Given the description of an element on the screen output the (x, y) to click on. 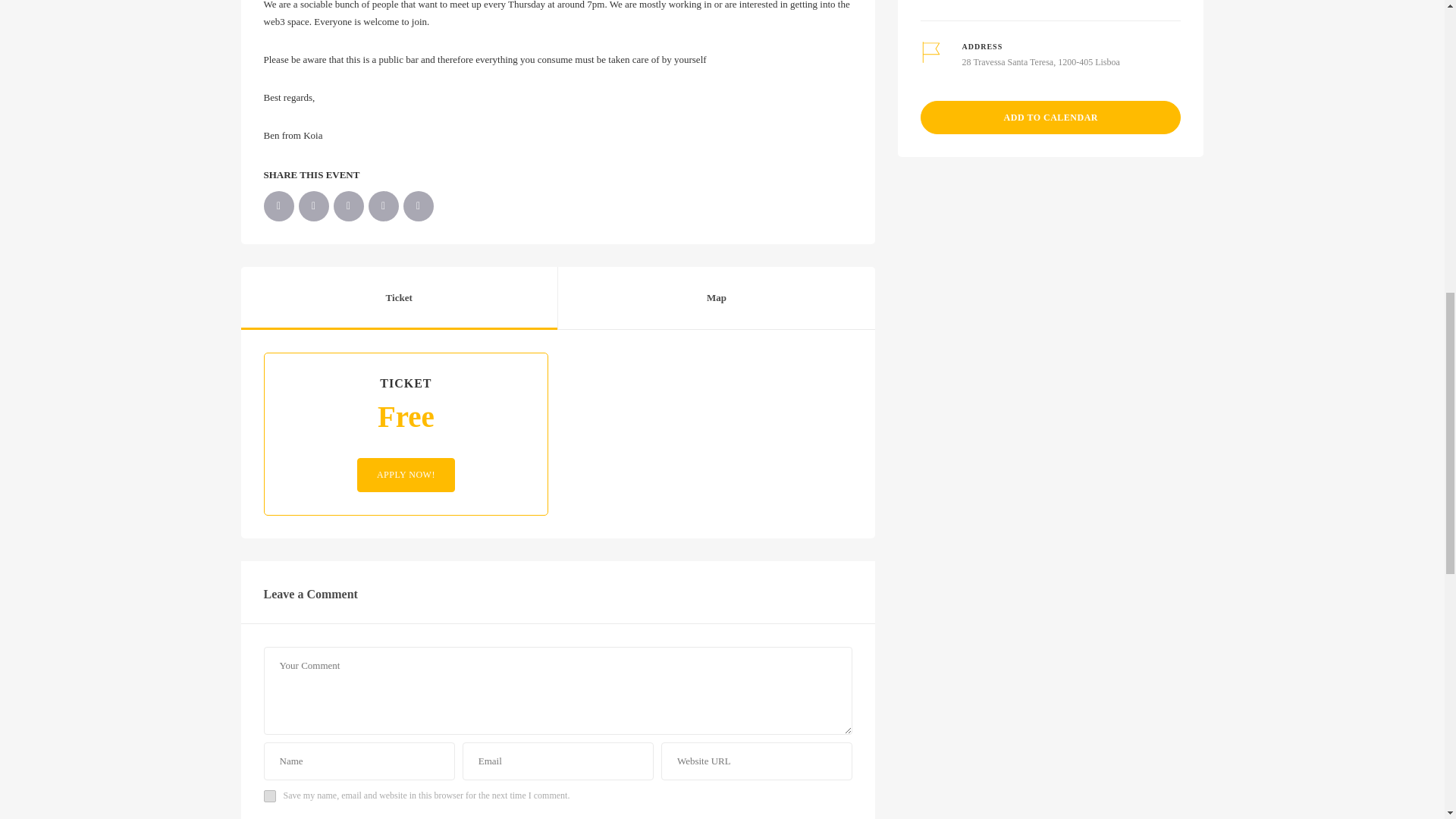
Map (716, 298)
APPLY NOW! (405, 474)
ADD TO CALENDAR (1050, 117)
Ticket (399, 298)
